Given the description of an element on the screen output the (x, y) to click on. 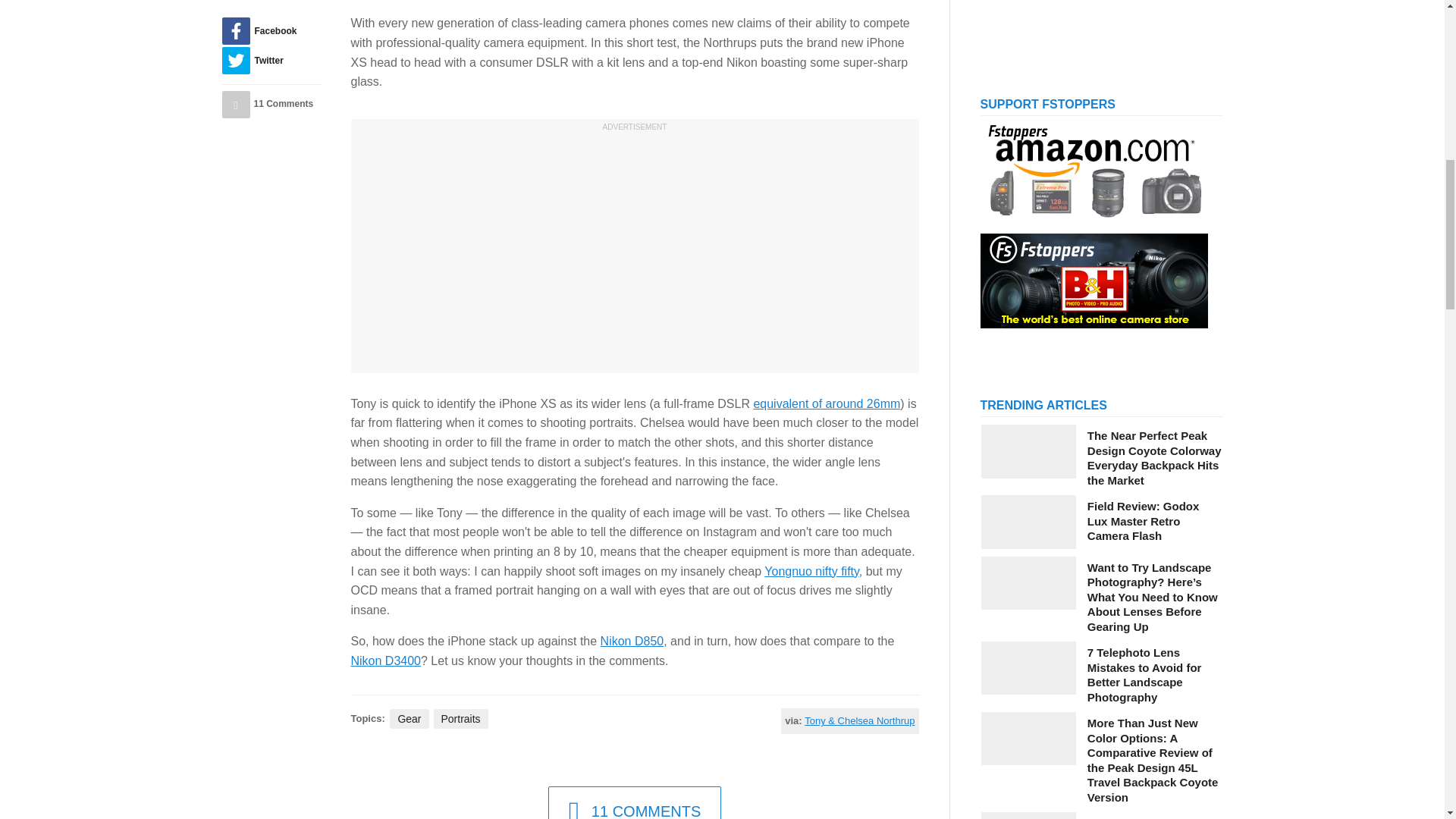
equivalent of around 26mm (825, 403)
11 COMMENTS (635, 802)
11 Comments (270, 103)
Yongnuo nifty fifty (811, 571)
Nikon D850 (631, 640)
Portraits (460, 718)
Nikon D3400 (385, 660)
Share on Facebook (270, 31)
Gear (409, 718)
